Given the description of an element on the screen output the (x, y) to click on. 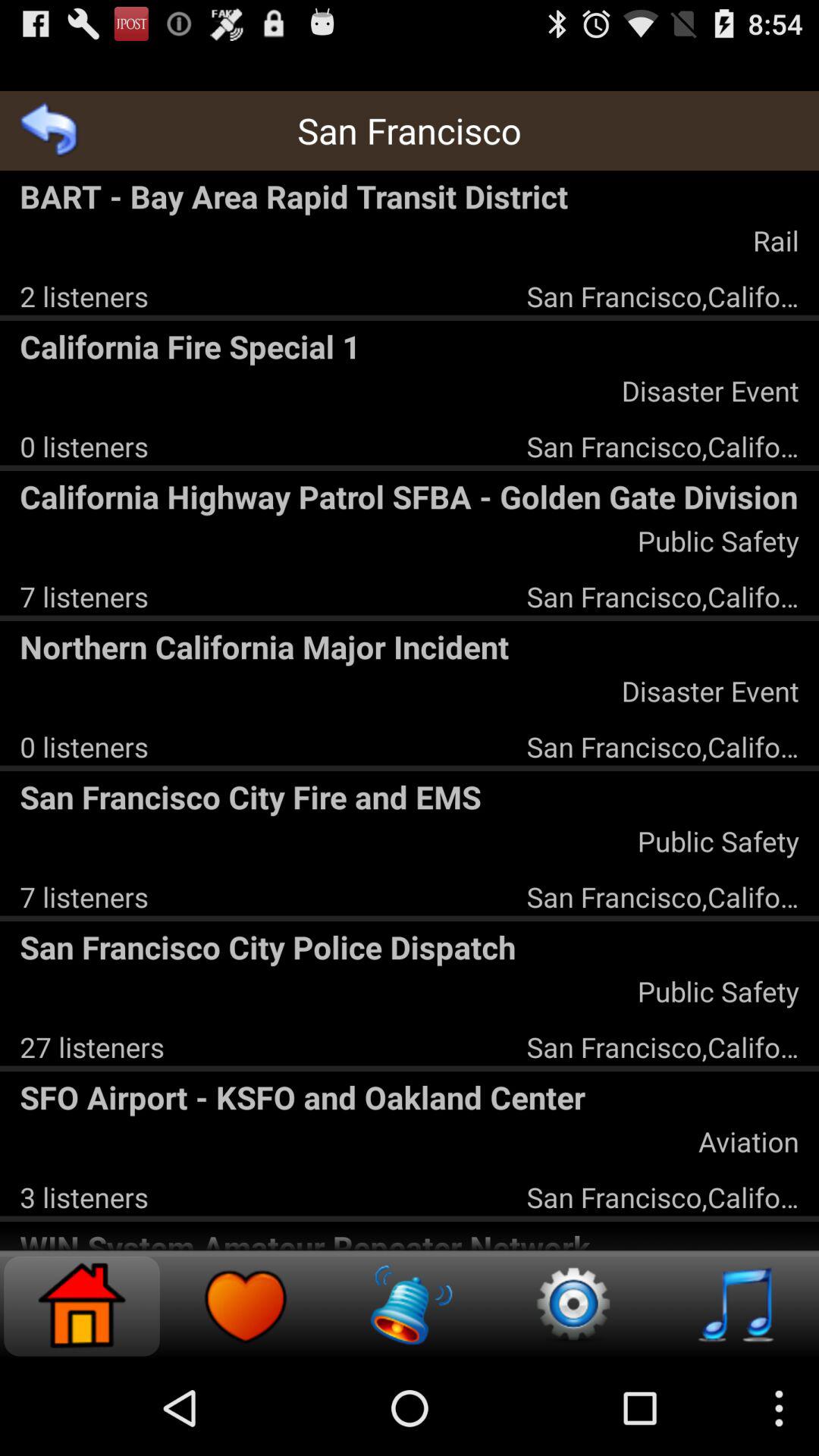
open the app above the bart bay area (49, 130)
